Given the description of an element on the screen output the (x, y) to click on. 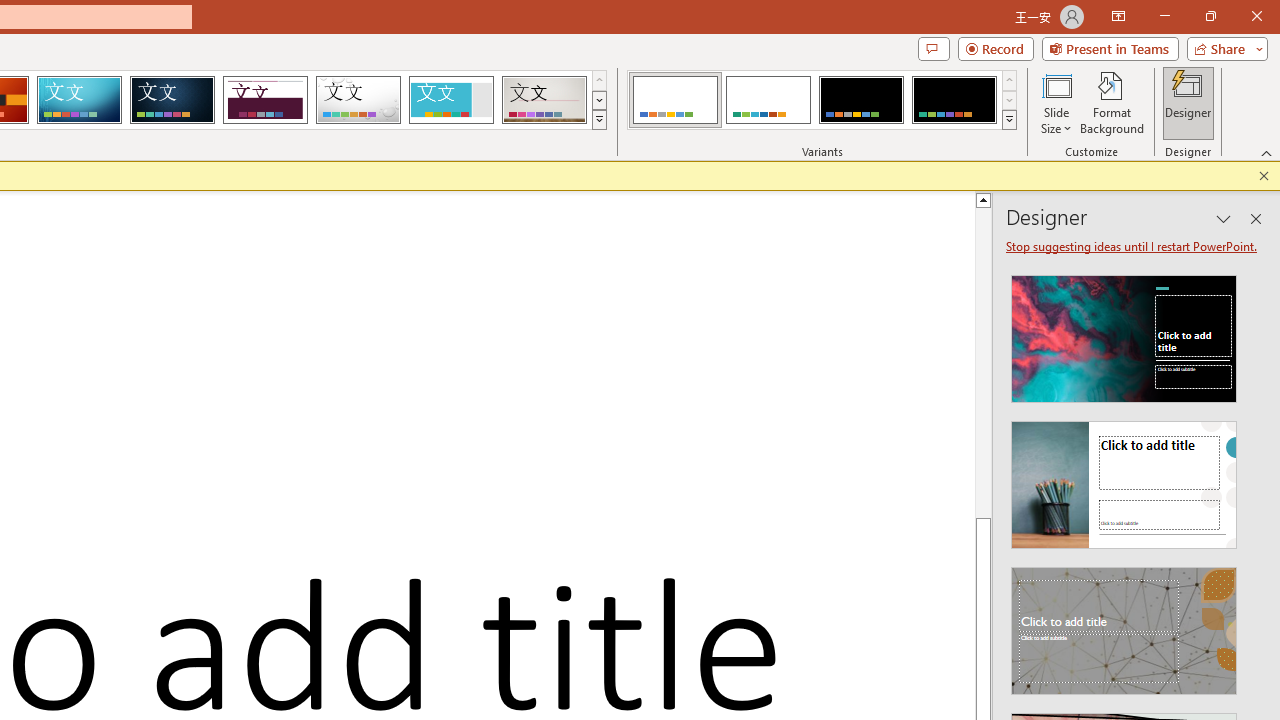
Slide Size (1056, 102)
Office Theme Variant 1 (674, 100)
Droplet (358, 100)
